Given the description of an element on the screen output the (x, y) to click on. 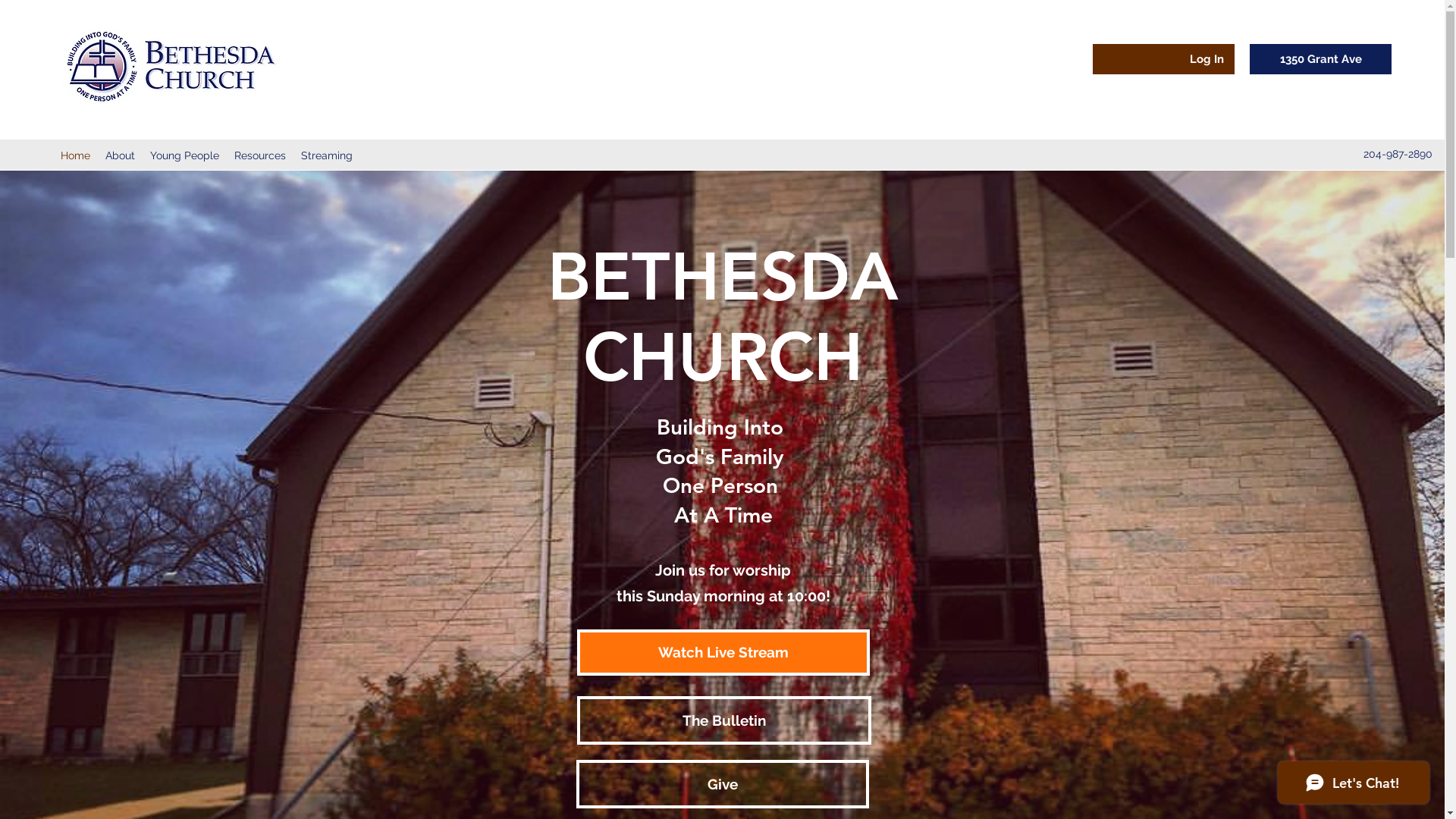
Resources Element type: text (259, 155)
Home Element type: text (75, 155)
Watch Live Stream Element type: text (722, 652)
Give Element type: text (722, 783)
Streaming Element type: text (326, 155)
Log In Element type: text (1206, 59)
1350 Grant Ave Element type: text (1320, 58)
The Bulletin Element type: text (723, 720)
About Element type: text (119, 155)
